Given the description of an element on the screen output the (x, y) to click on. 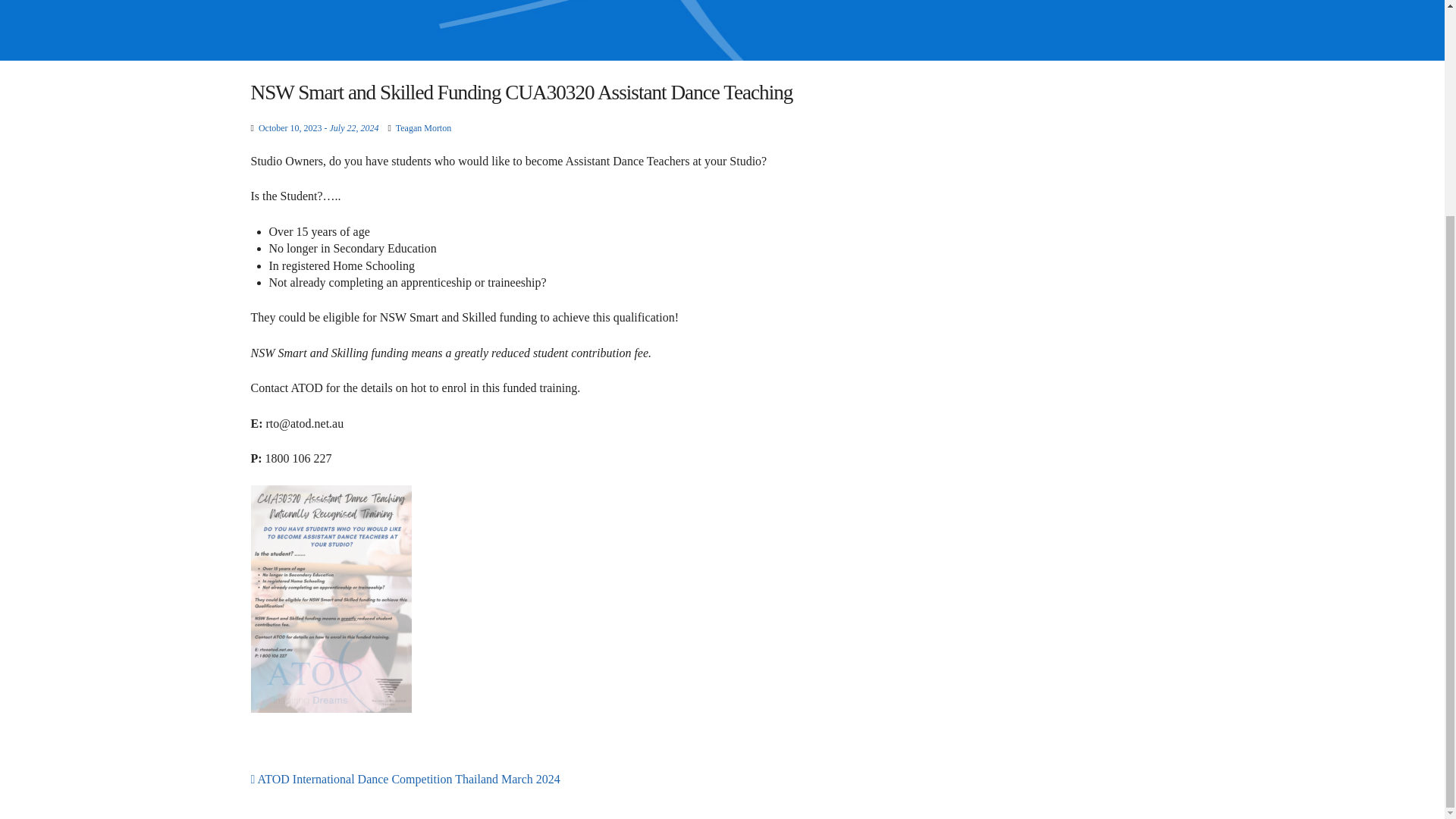
October 10, 2023 - July 22, 2024 (318, 127)
